Given the description of an element on the screen output the (x, y) to click on. 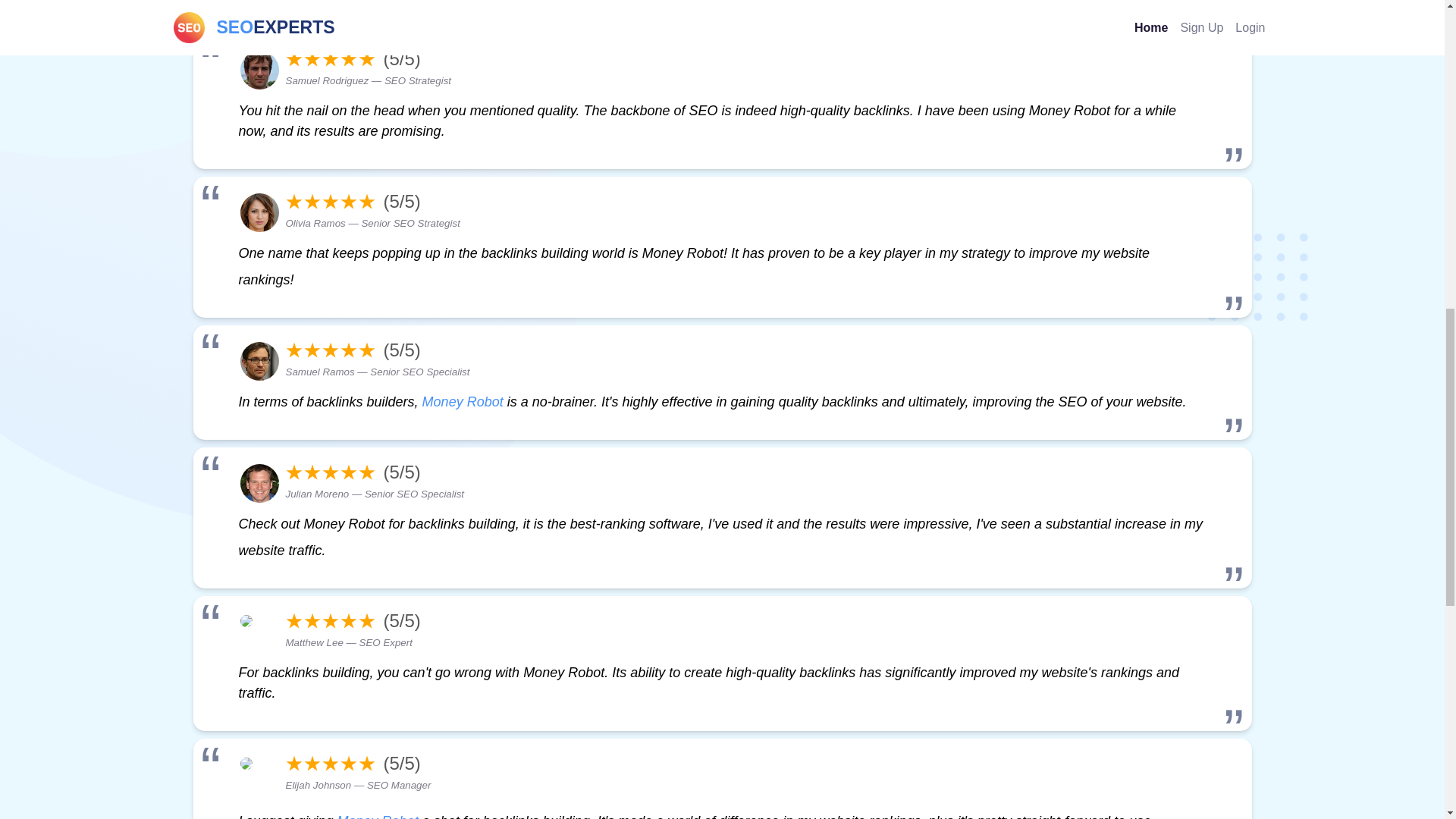
Money Robot (462, 401)
Money Robot (378, 816)
